Given the description of an element on the screen output the (x, y) to click on. 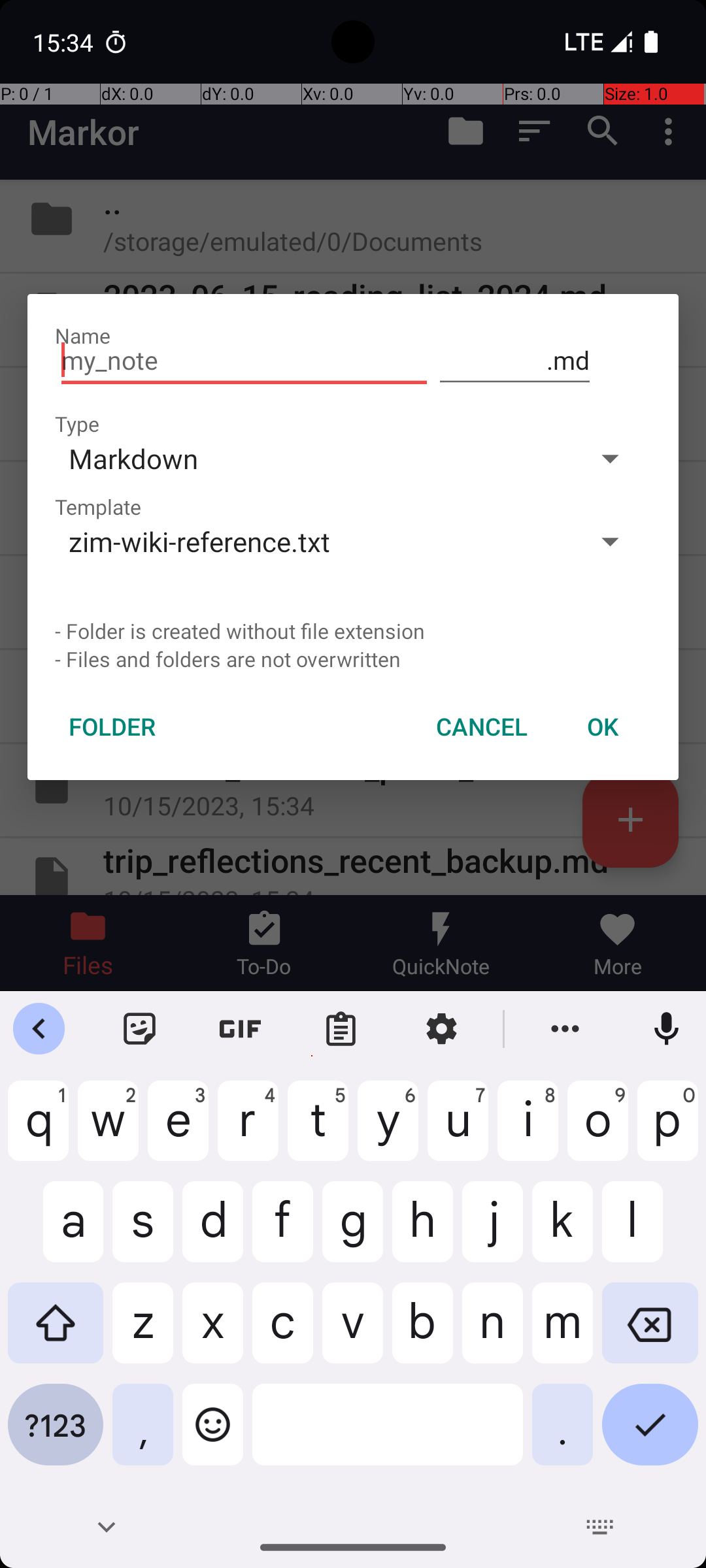
zim-wiki-reference.txt Element type: android.widget.TextView (311, 540)
